Given the description of an element on the screen output the (x, y) to click on. 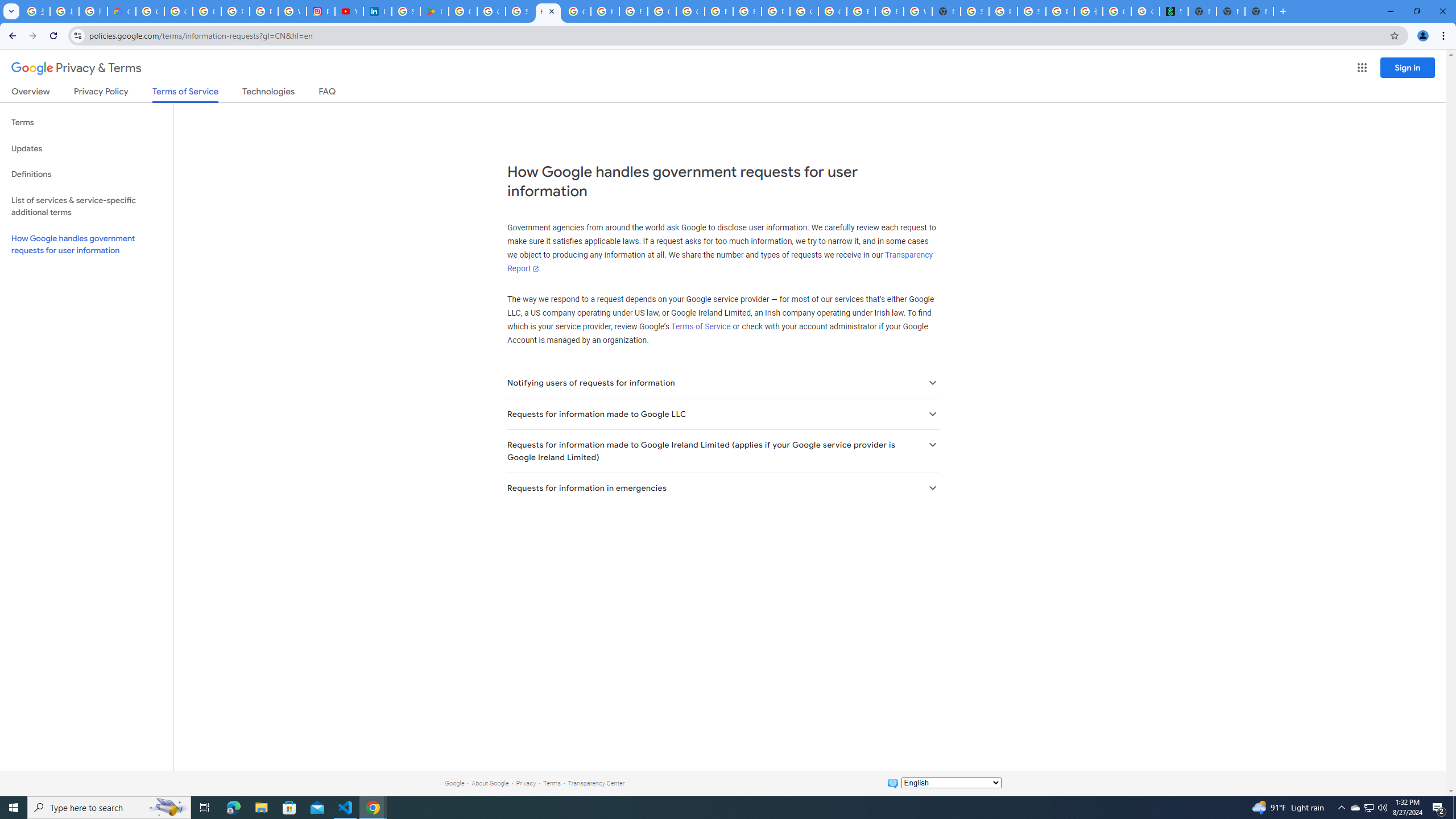
Browse Chrome as a guest - Computer - Google Chrome Help (860, 11)
Google Cloud Platform (832, 11)
Browse Chrome as a guest - Computer - Google Chrome Help (718, 11)
